Given the description of an element on the screen output the (x, y) to click on. 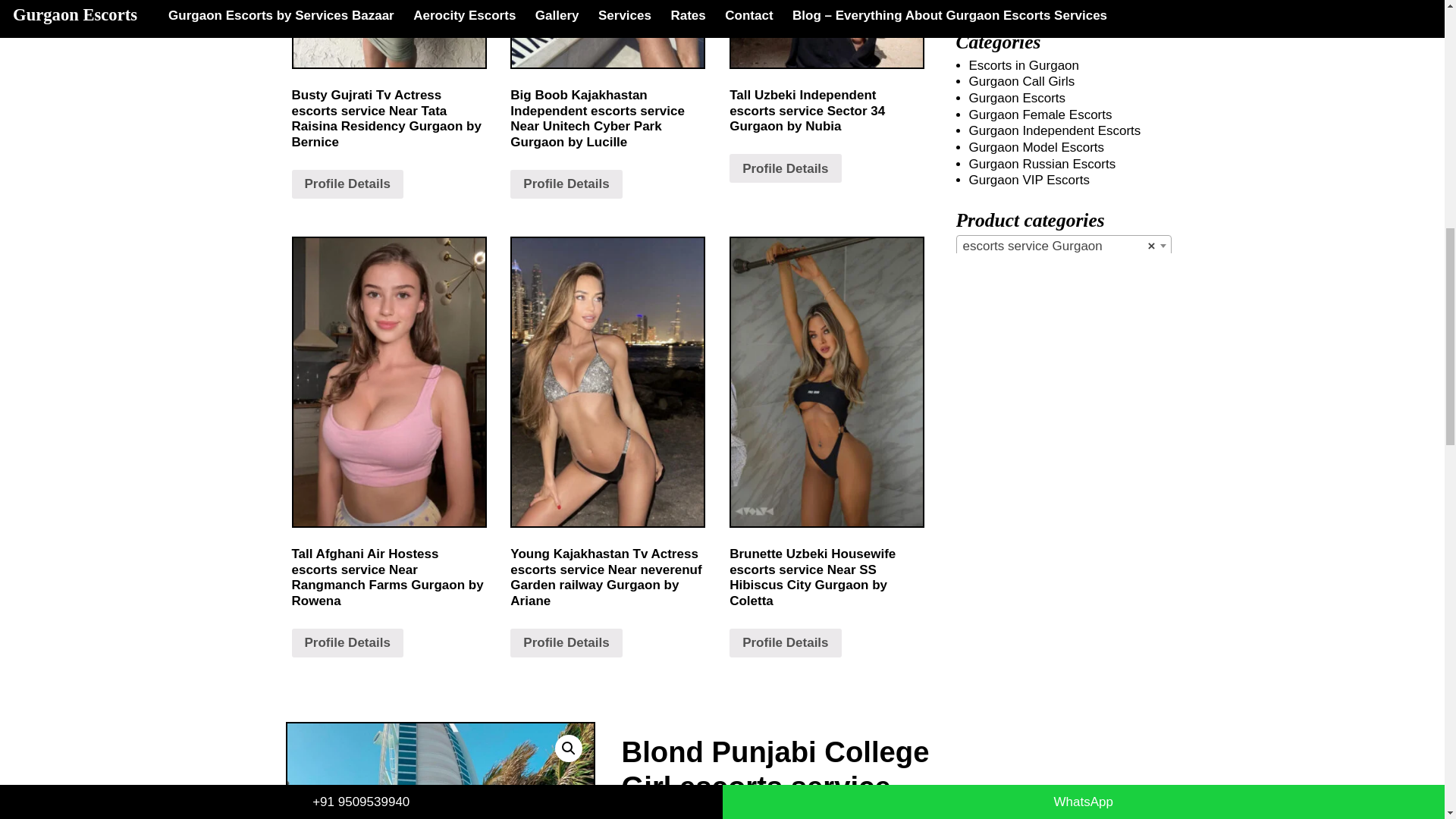
Profile Details (347, 642)
escorts service Gurgaon (1063, 246)
floretta (440, 770)
Profile Details (785, 642)
Profile Details (785, 167)
Profile Details (347, 184)
Profile Details (566, 184)
